Given the description of an element on the screen output the (x, y) to click on. 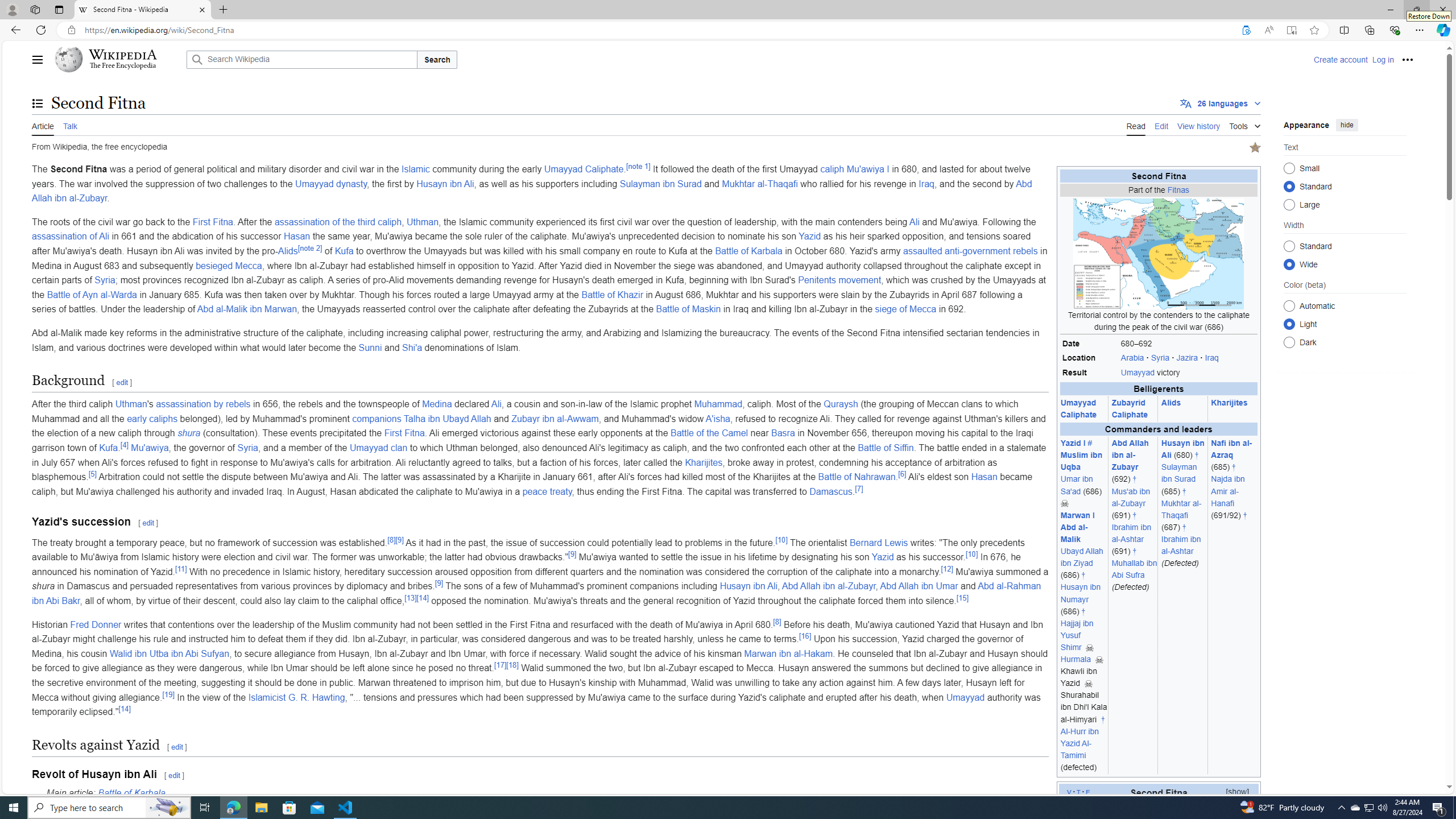
Support Wikipedia? (1245, 29)
